Given the description of an element on the screen output the (x, y) to click on. 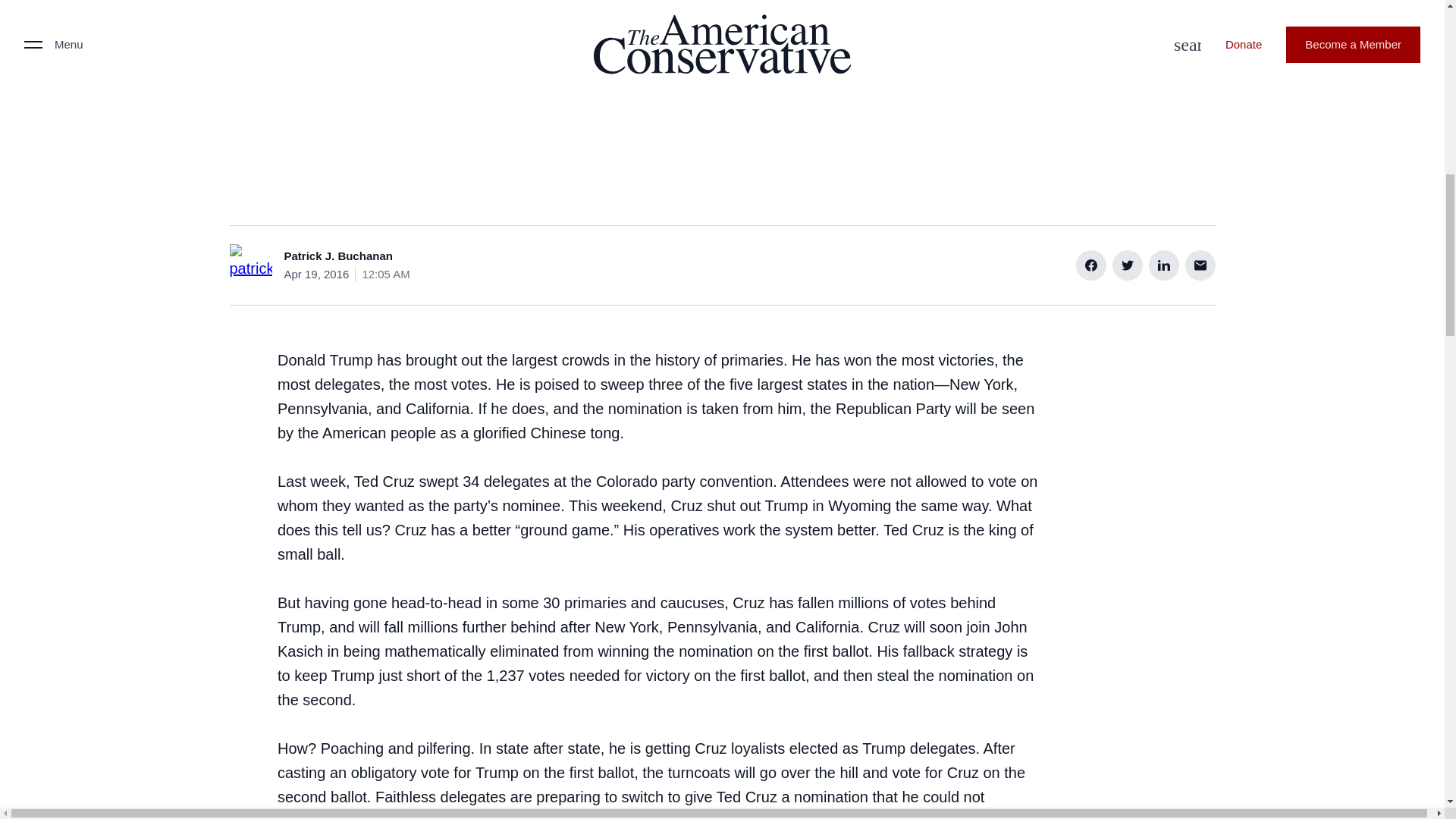
Patrick J. Buchanan (337, 255)
